Given the description of an element on the screen output the (x, y) to click on. 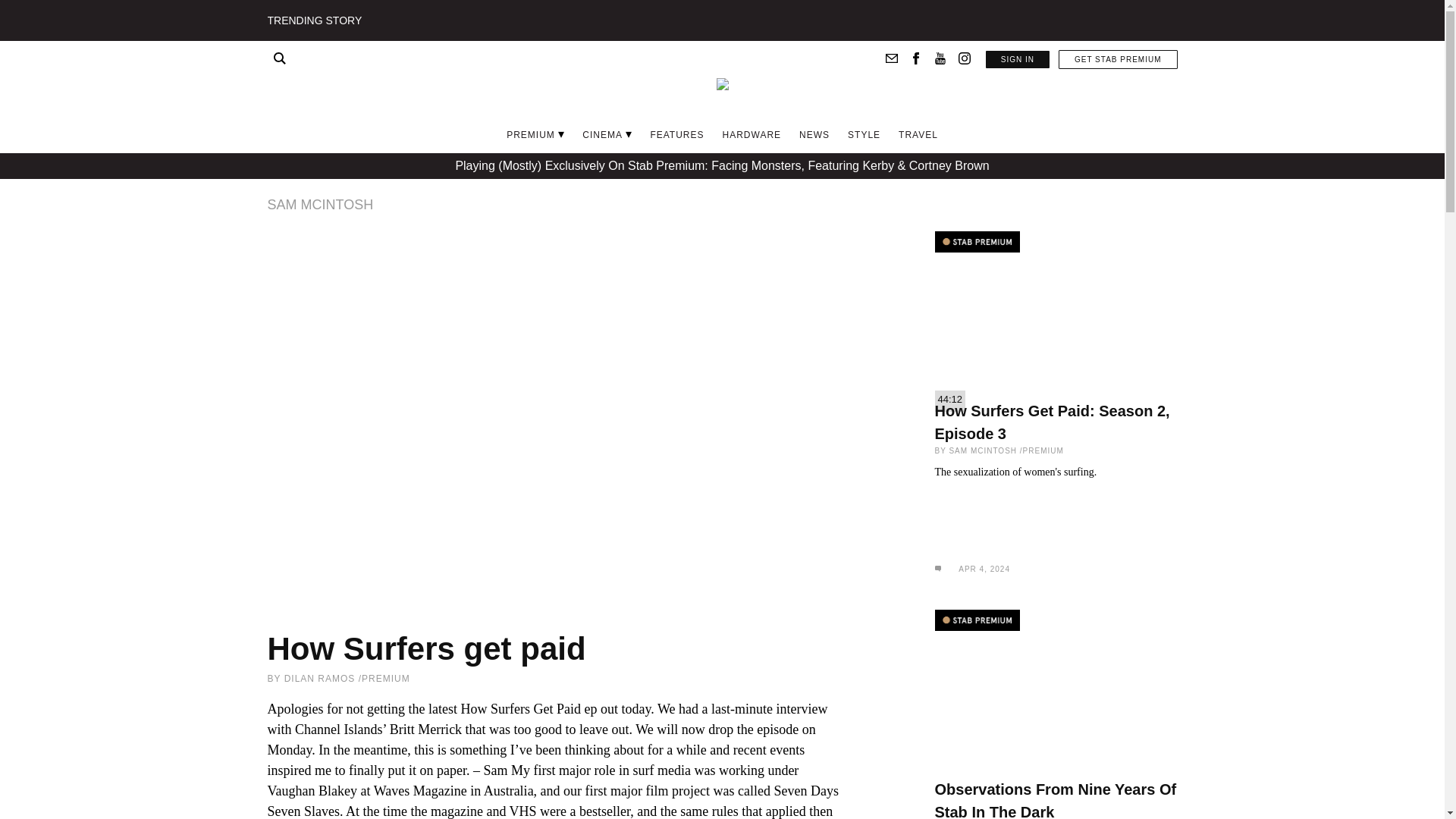
PREMIUM (530, 134)
CINEMA (602, 134)
SIGN IN (1017, 58)
GET STAB PREMIUM (1117, 58)
